Given the description of an element on the screen output the (x, y) to click on. 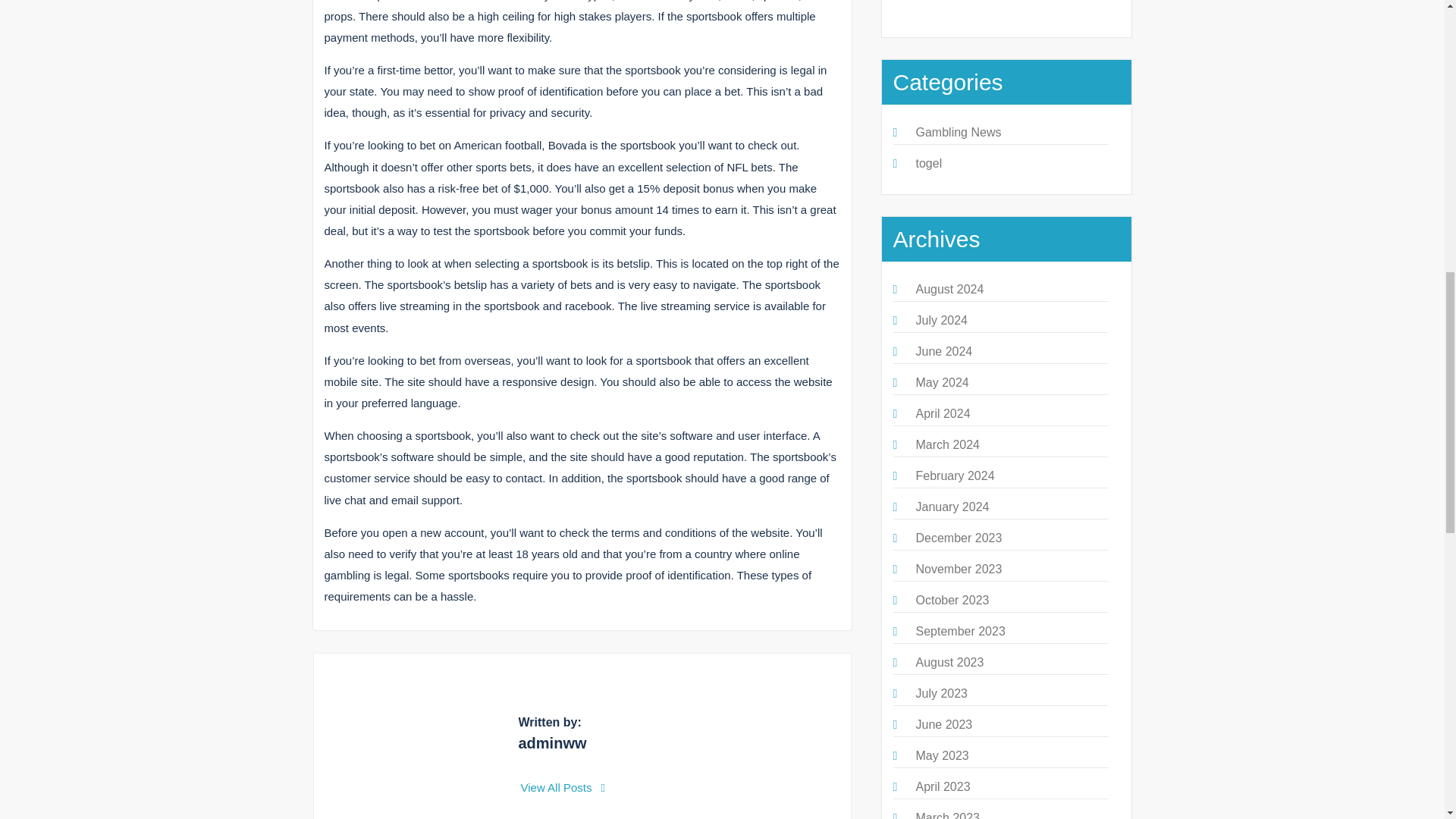
April 2024 (943, 413)
June 2024 (943, 350)
December 2023 (959, 537)
March 2024 (947, 444)
April 2023 (943, 786)
May 2023 (942, 755)
June 2023 (943, 724)
togel (928, 163)
February 2024 (954, 475)
August 2024 (949, 288)
